Given the description of an element on the screen output the (x, y) to click on. 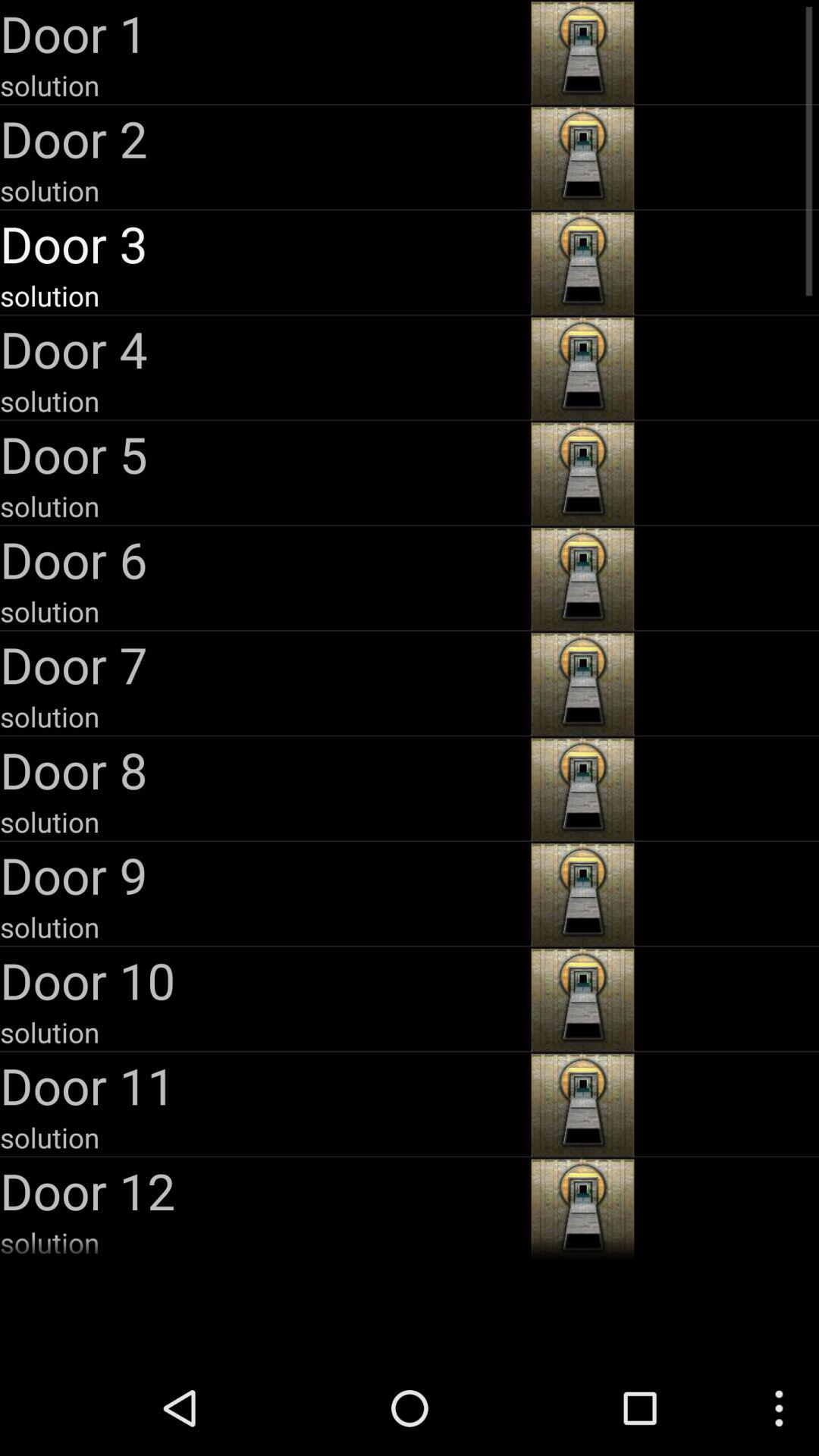
open the door 6 app (263, 559)
